Given the description of an element on the screen output the (x, y) to click on. 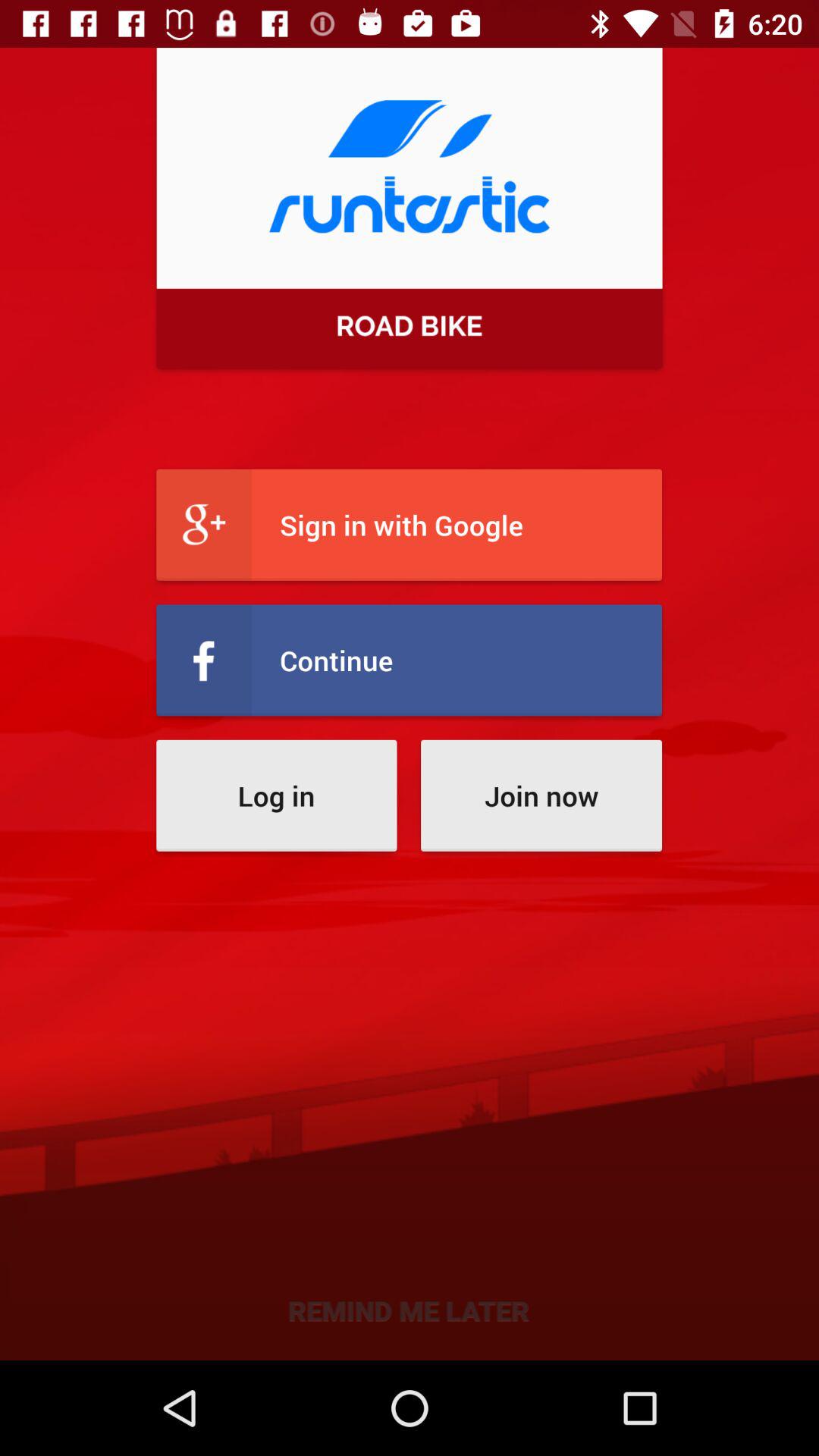
swipe to sign in with item (409, 524)
